Given the description of an element on the screen output the (x, y) to click on. 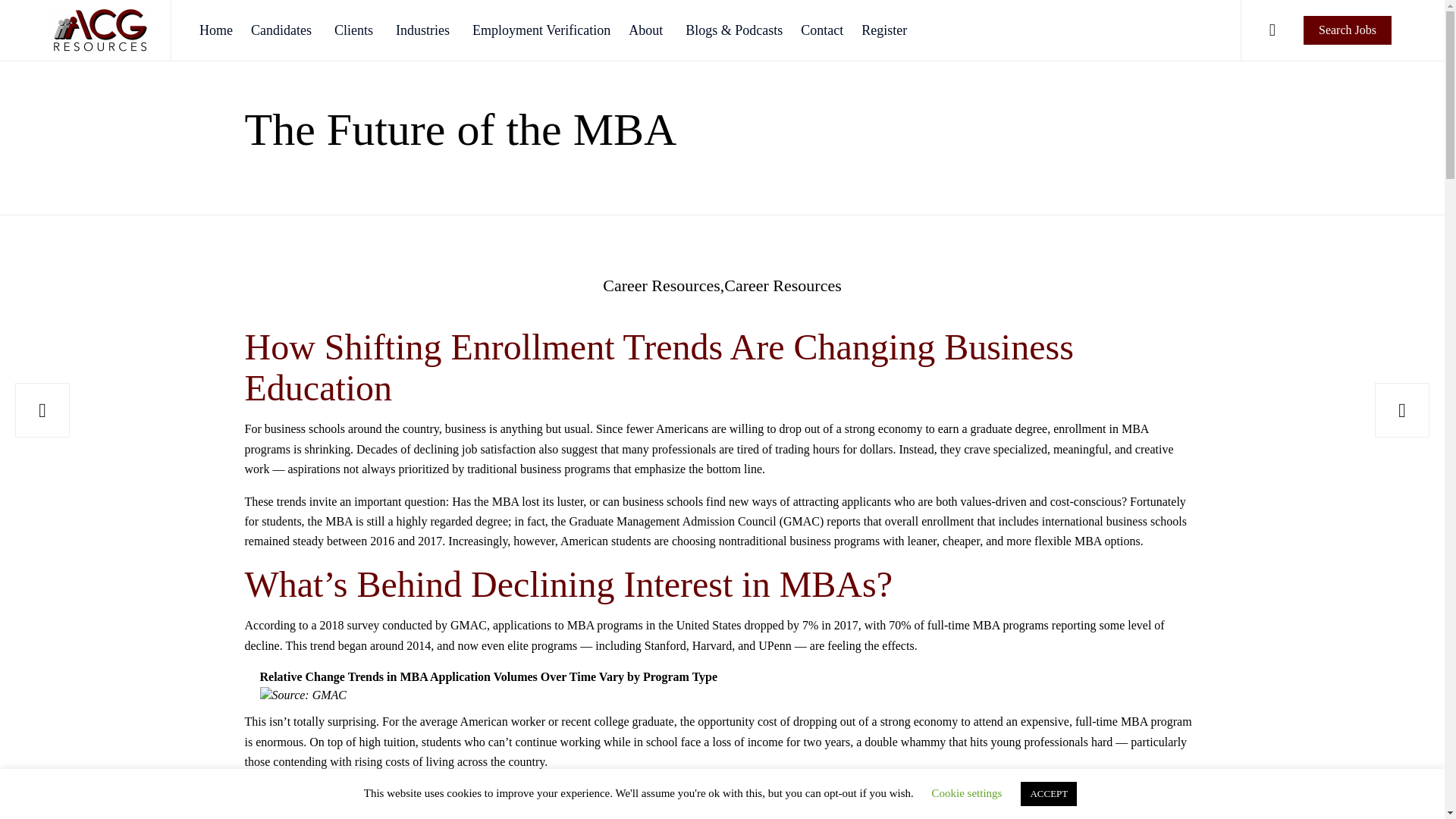
Contact (821, 30)
GMAC (329, 694)
About (648, 30)
Career Resources (662, 286)
Candidates (282, 30)
is shrinking (322, 449)
many professionals (668, 449)
Industries (425, 30)
declining job satisfaction (474, 449)
Register (883, 30)
2018 survey conducted by GMAC (403, 625)
Career Resources (782, 286)
Graduate Management Admission Council (672, 521)
Home (215, 30)
Employment Verification (541, 30)
